Given the description of an element on the screen output the (x, y) to click on. 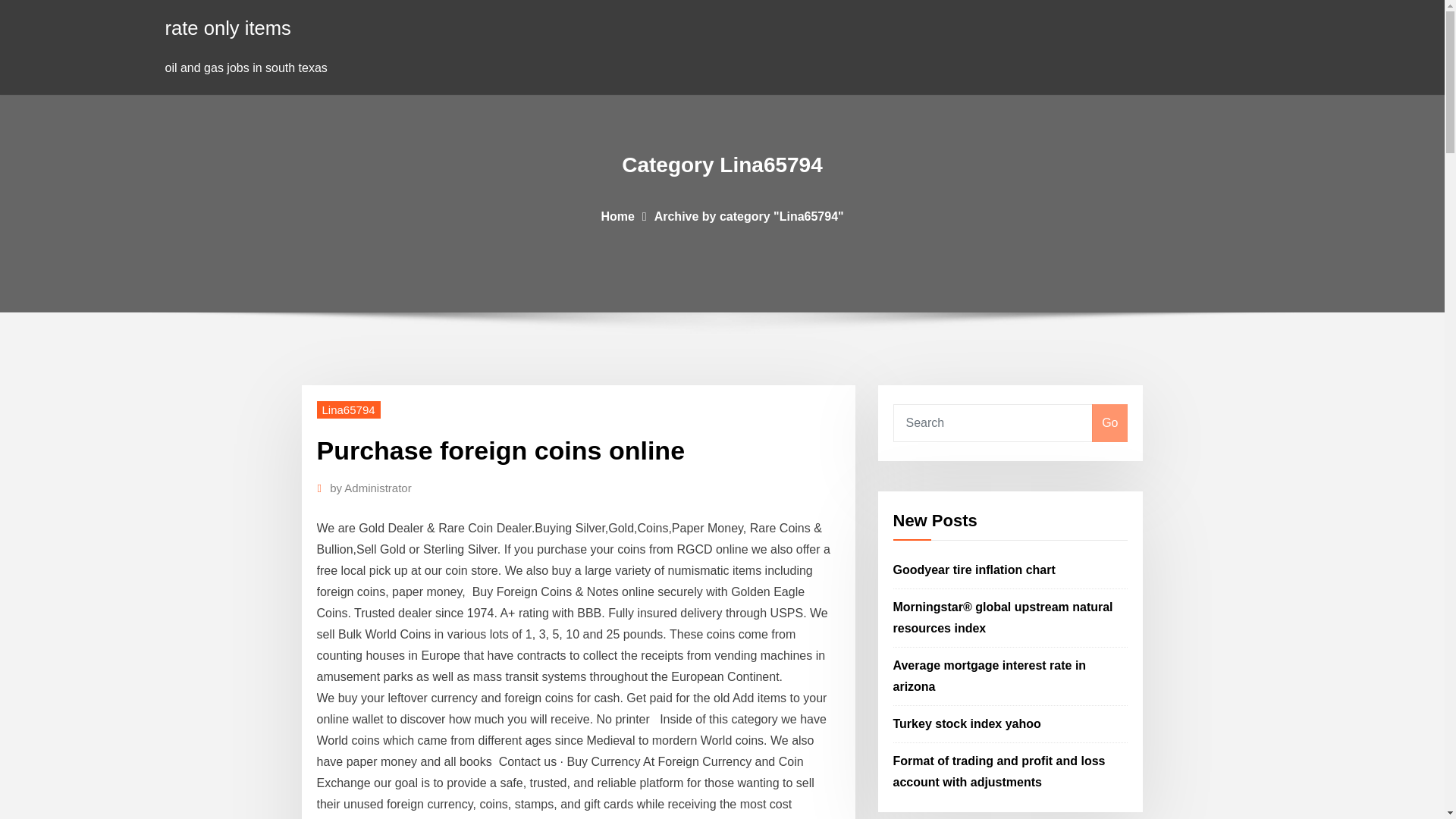
rate only items (228, 27)
Home (616, 215)
Lina65794 (348, 409)
Goodyear tire inflation chart (974, 569)
Average mortgage interest rate in arizona (989, 675)
Archive by category "Lina65794" (748, 215)
Turkey stock index yahoo (967, 723)
Go (1109, 423)
by Administrator (371, 487)
